Given the description of an element on the screen output the (x, y) to click on. 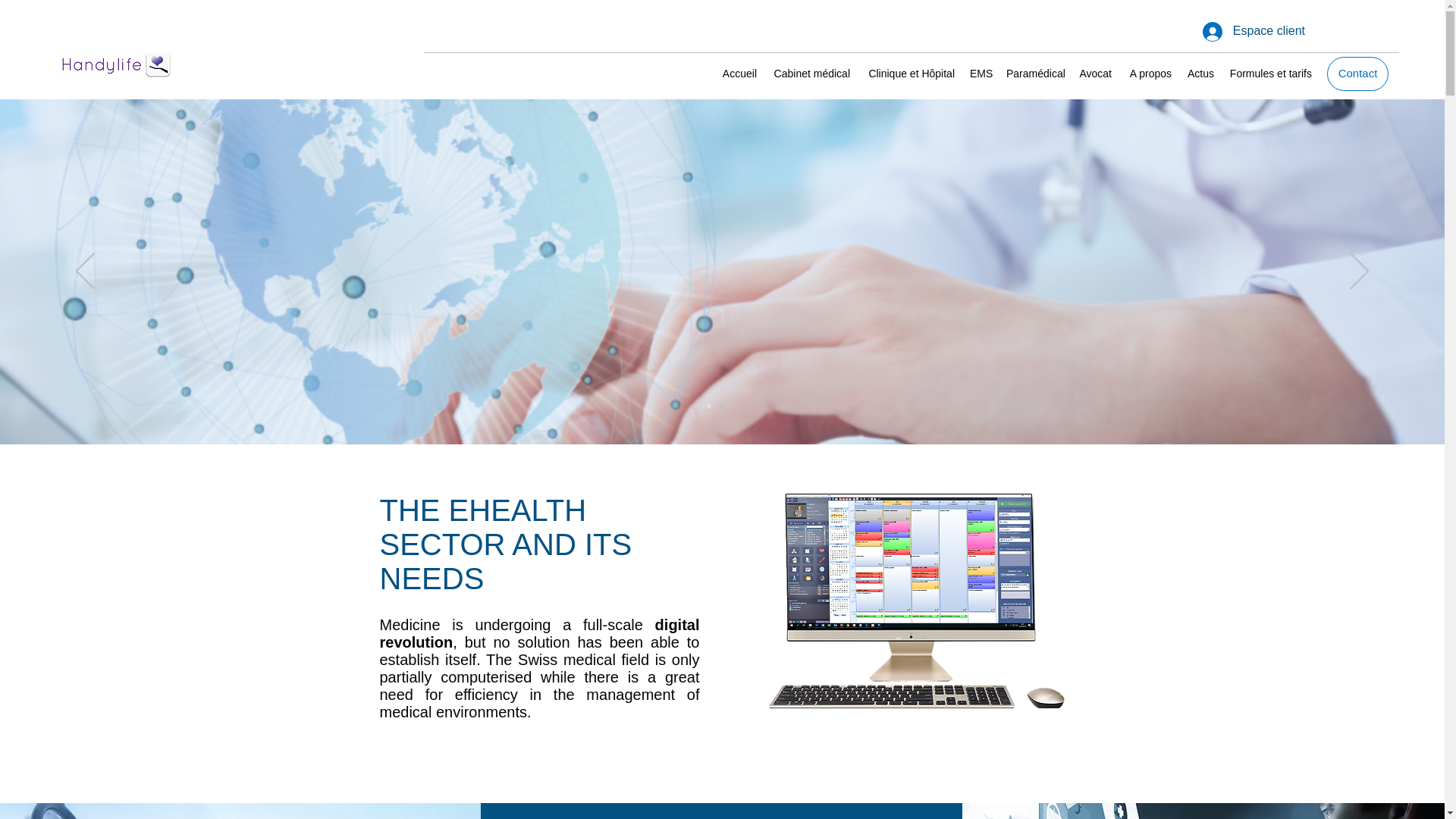
Avocat (1095, 73)
Espace client (1254, 30)
Contact (1357, 73)
EMS (980, 73)
Accueil (739, 73)
Formules et tarifs (1270, 73)
Actus (1200, 73)
A propos (1149, 73)
